Given the description of an element on the screen output the (x, y) to click on. 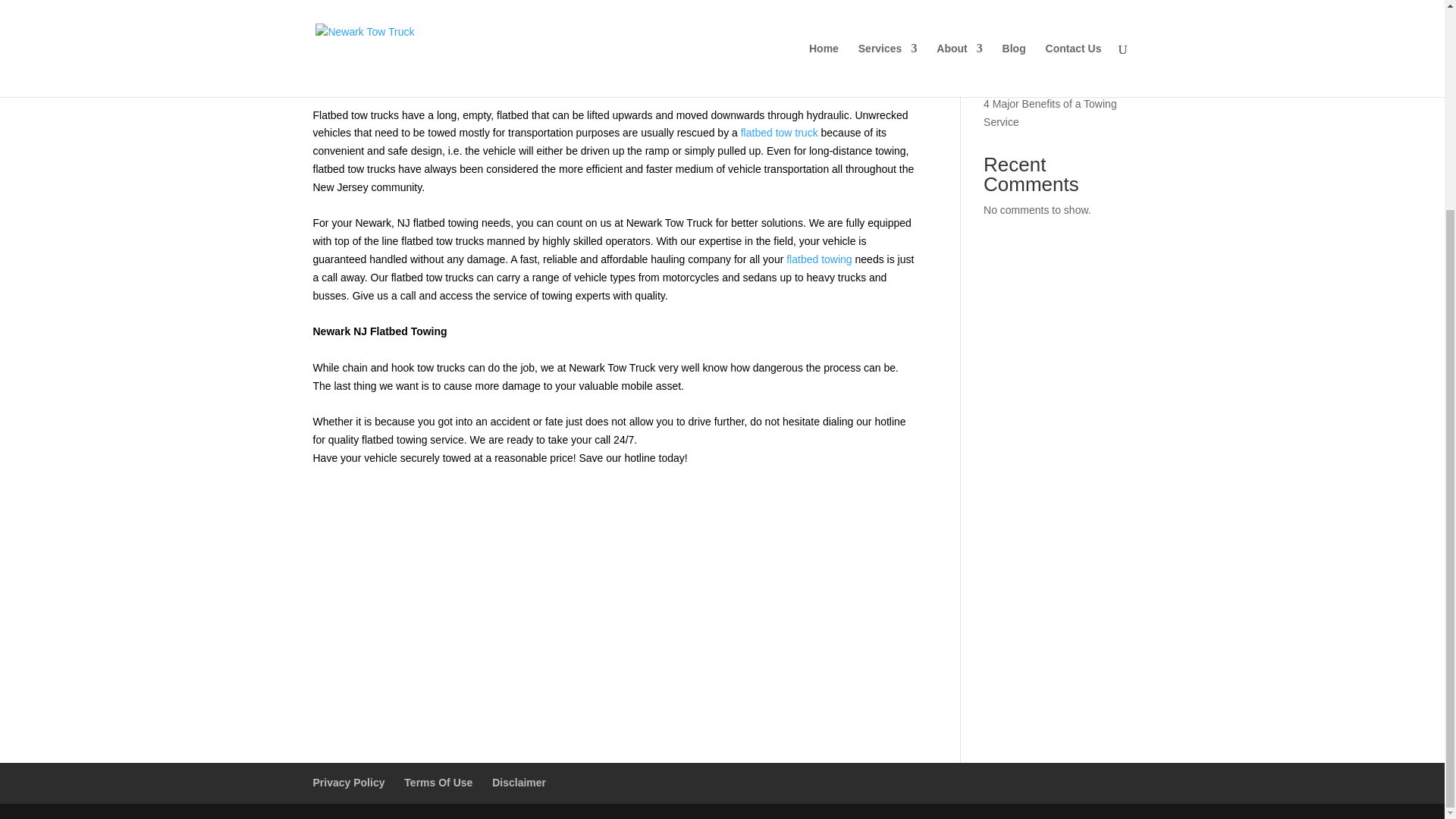
towing service (430, 439)
Terms Of Use (437, 782)
4 Major Benefits of a Towing Service (1050, 112)
flatbed tow truck (779, 132)
Newark Tow Truck (669, 223)
Disclaimer (519, 782)
Privacy Policy (348, 782)
flatbed towing (818, 259)
Tips to Avoid Breakdowns While On a Road Trip (1044, 13)
